Given the description of an element on the screen output the (x, y) to click on. 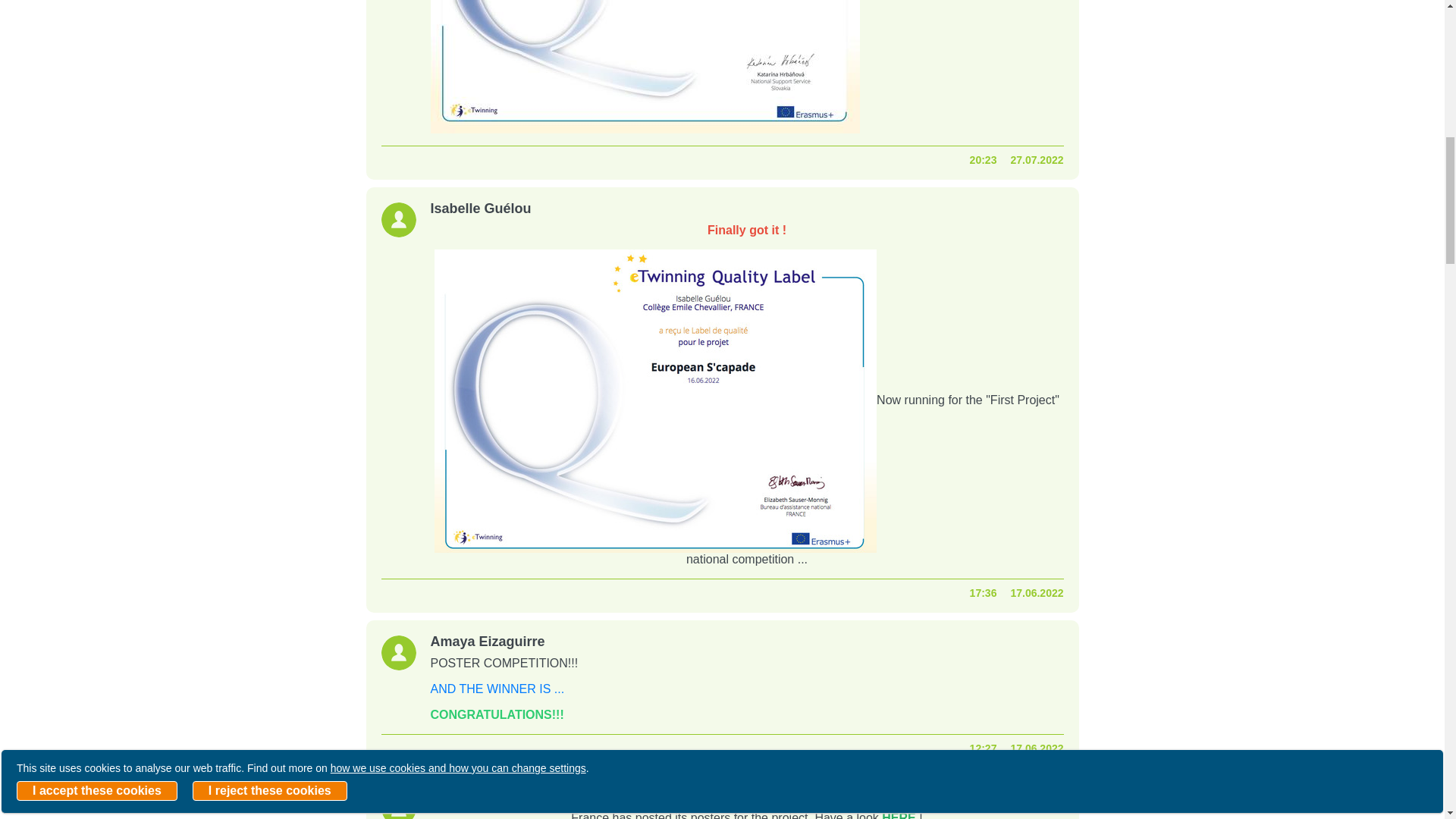
AND THE WINNER IS ... (497, 688)
HERE (898, 815)
